Given the description of an element on the screen output the (x, y) to click on. 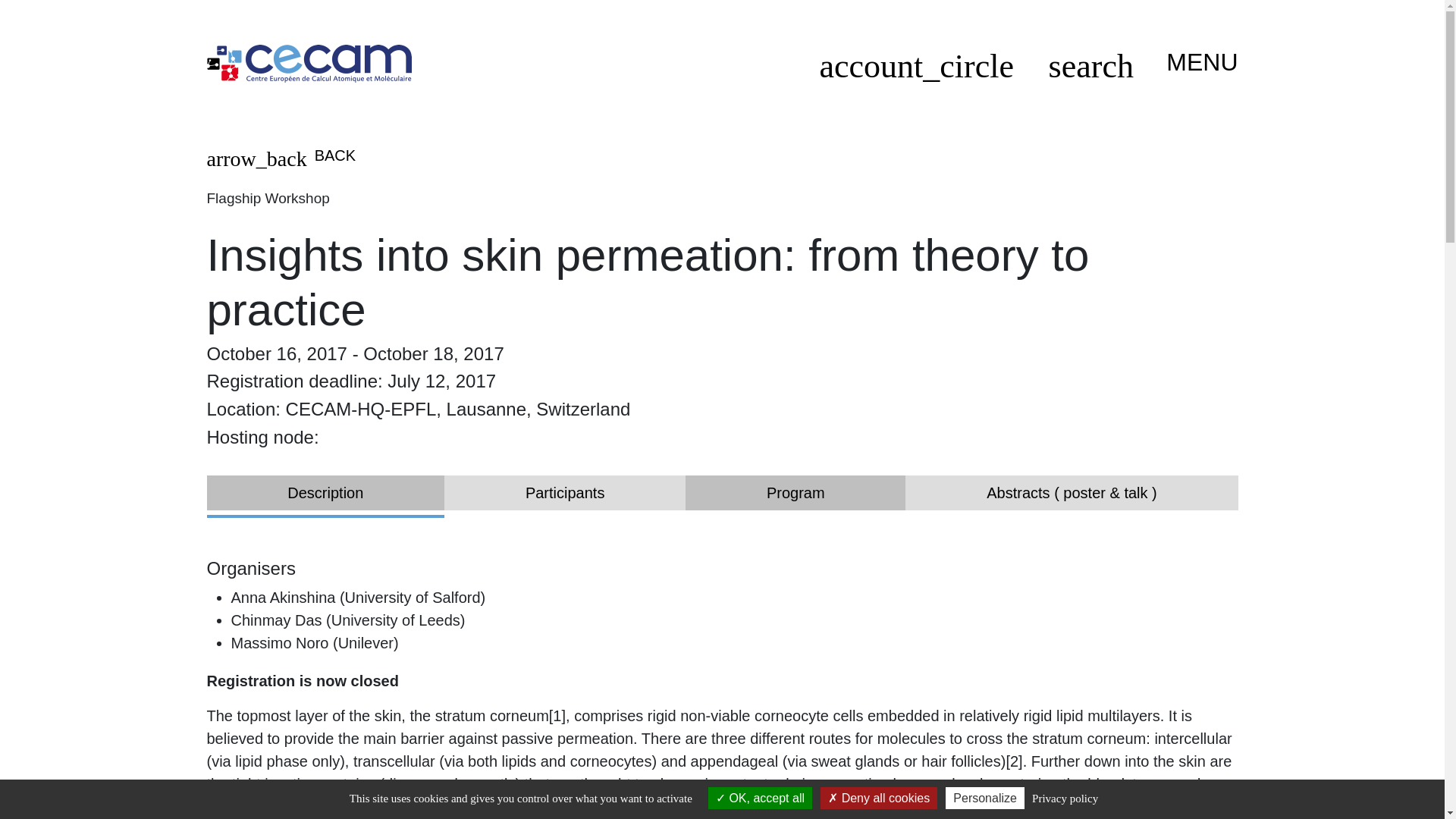
Description (325, 492)
search (1091, 71)
Participants (564, 492)
Program (795, 492)
MENU (1195, 62)
